Given the description of an element on the screen output the (x, y) to click on. 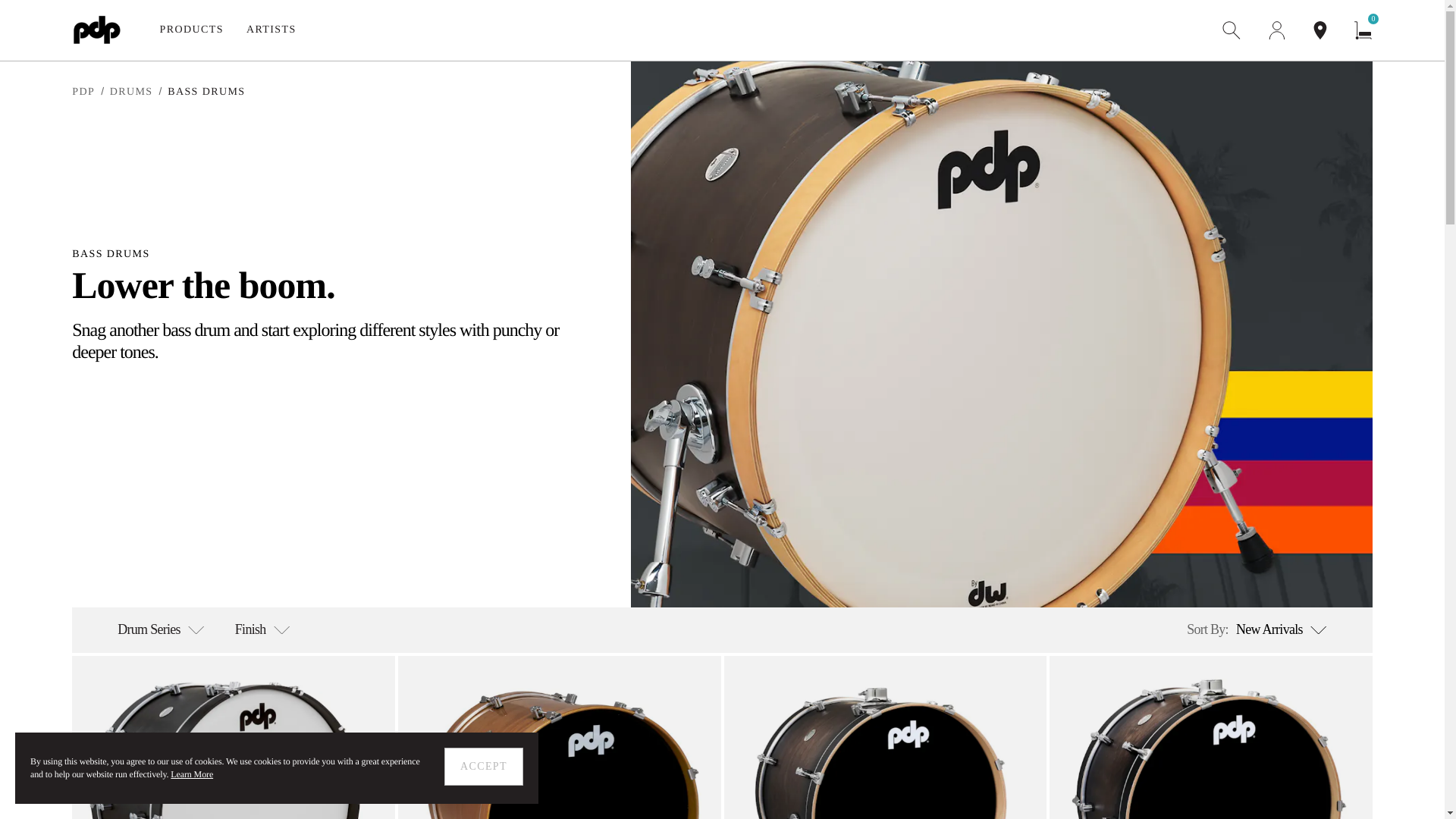
PDP (82, 91)
PRODUCTS (1256, 629)
Learn More (192, 30)
BASS DRUMS (191, 774)
ARTISTS (205, 91)
DRUMS (271, 30)
search (131, 91)
ACCEPT (1231, 30)
Open Account (483, 766)
